Given the description of an element on the screen output the (x, y) to click on. 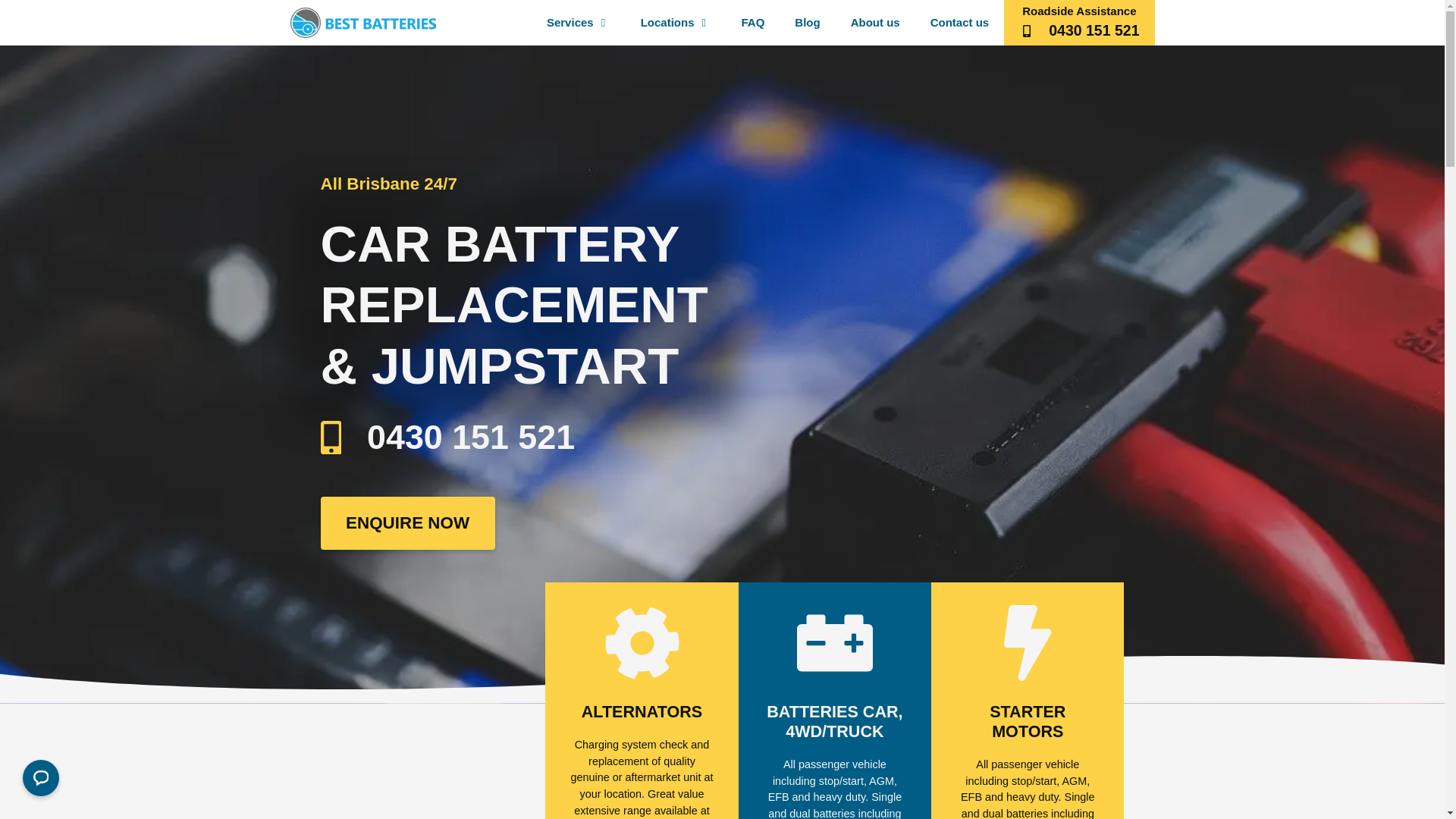
Best Batteries (362, 22)
Phone Number (459, 436)
Enquire Now (407, 522)
Best Batteries (366, 22)
Call Us Now (1079, 22)
